Given the description of an element on the screen output the (x, y) to click on. 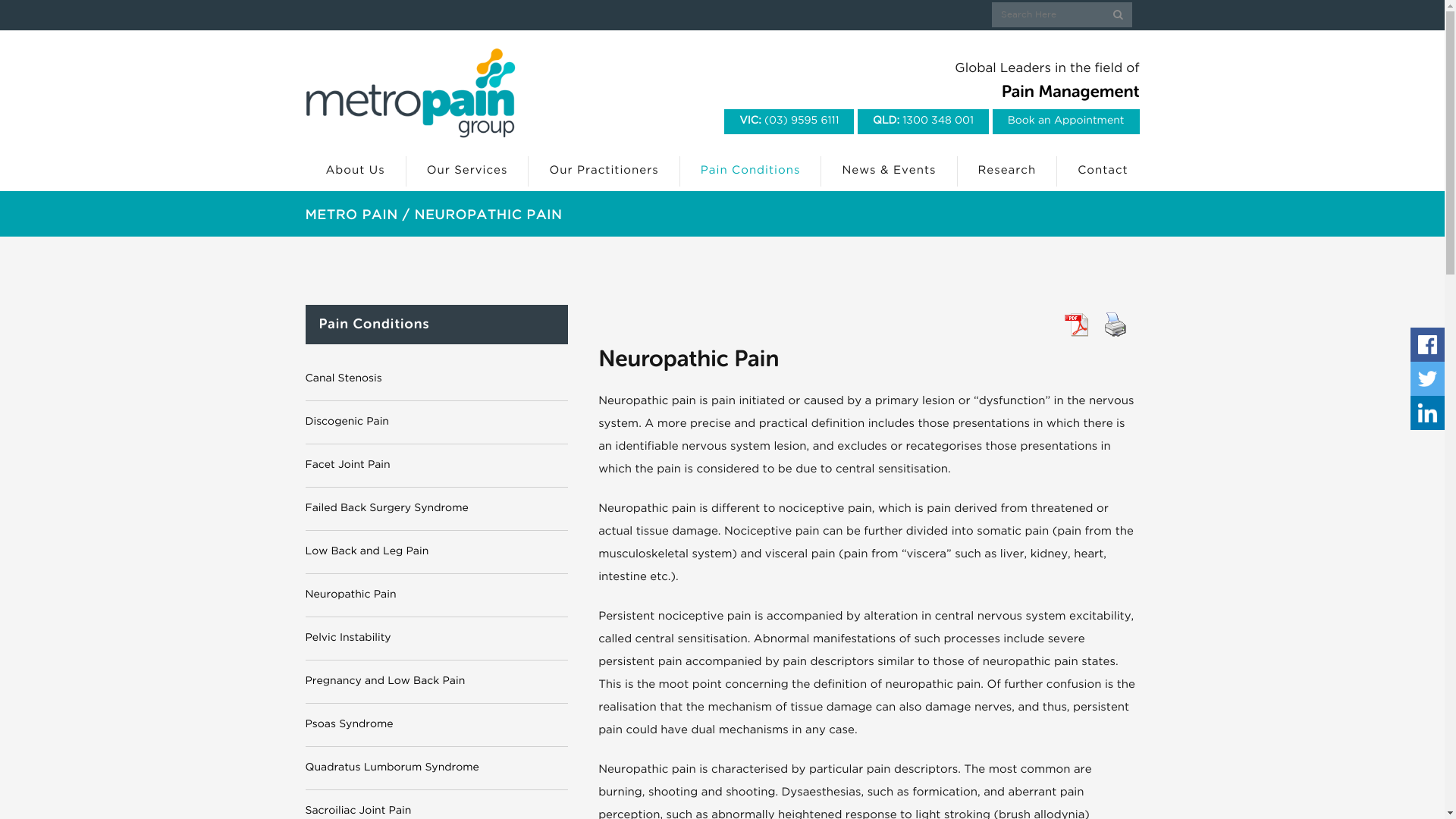
Low Back and Leg Pain Element type: text (366, 551)
Share on Twitter Element type: hover (1427, 378)
Share on Facebook Element type: hover (1427, 344)
Research Element type: text (1007, 171)
QLD: 1300 348 001 Element type: text (922, 121)
About Us Element type: text (354, 171)
Pain Conditions Element type: text (751, 171)
Quadratus Lumborum Syndrome Element type: text (391, 767)
Discogenic Pain Element type: text (346, 421)
Canal Stenosis Element type: text (342, 378)
View PDF Element type: hover (1076, 324)
Pelvic Instability Element type: text (347, 638)
Facet Joint Pain Element type: text (346, 465)
News & Events Element type: text (889, 171)
Pregnancy and Low Back Pain Element type: text (384, 681)
VIC: (03) 9595 6111 Element type: text (788, 121)
Sacroiliac Joint Pain Element type: text (357, 810)
Contact Element type: text (1092, 171)
Share on Linkedin Element type: hover (1427, 412)
Our Services Element type: text (467, 171)
METRO PAIN Element type: text (350, 214)
Print Content Element type: hover (1115, 324)
Our Practitioners Element type: text (603, 171)
Book an Appointment Element type: text (1065, 121)
Neuropathic Pain Element type: text (349, 594)
Failed Back Surgery Syndrome Element type: text (385, 508)
Psoas Syndrome Element type: text (348, 724)
